Given the description of an element on the screen output the (x, y) to click on. 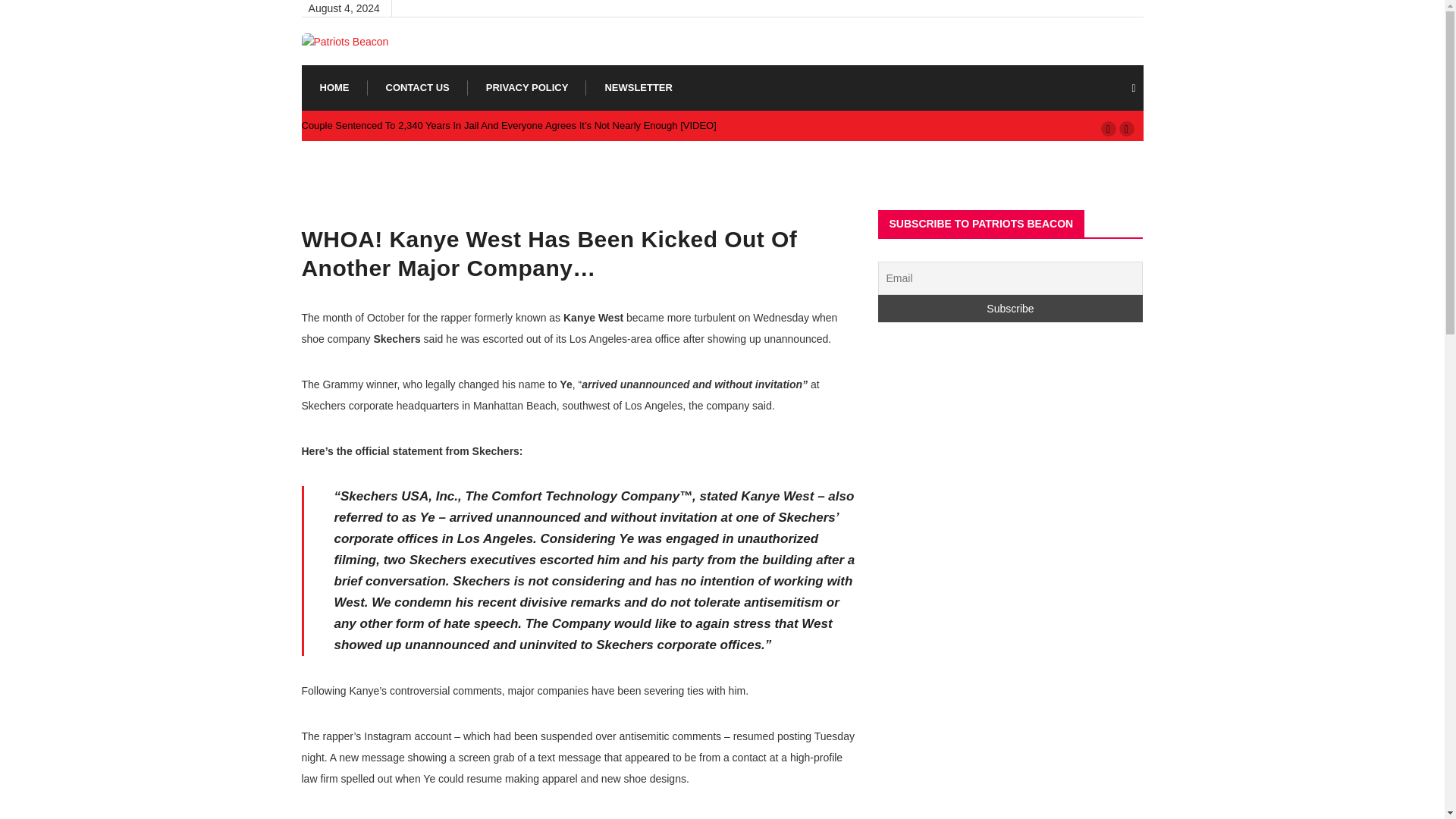
PRIVACY POLICY (527, 87)
Subscribe (1009, 308)
NEWSLETTER (638, 87)
CONTACT US (416, 87)
Subscribe (1009, 308)
